Given the description of an element on the screen output the (x, y) to click on. 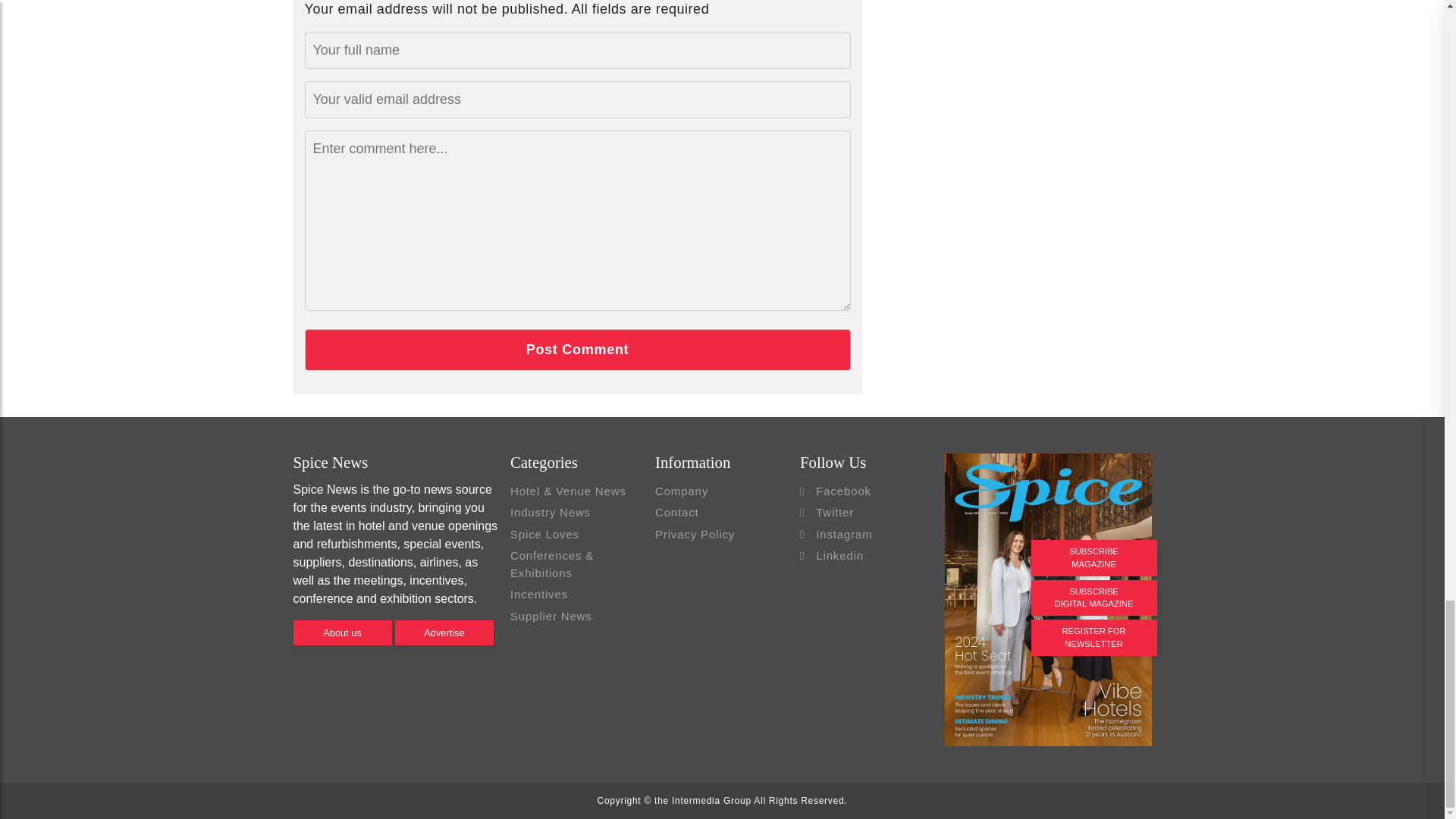
Post Comment (577, 350)
